Given the description of an element on the screen output the (x, y) to click on. 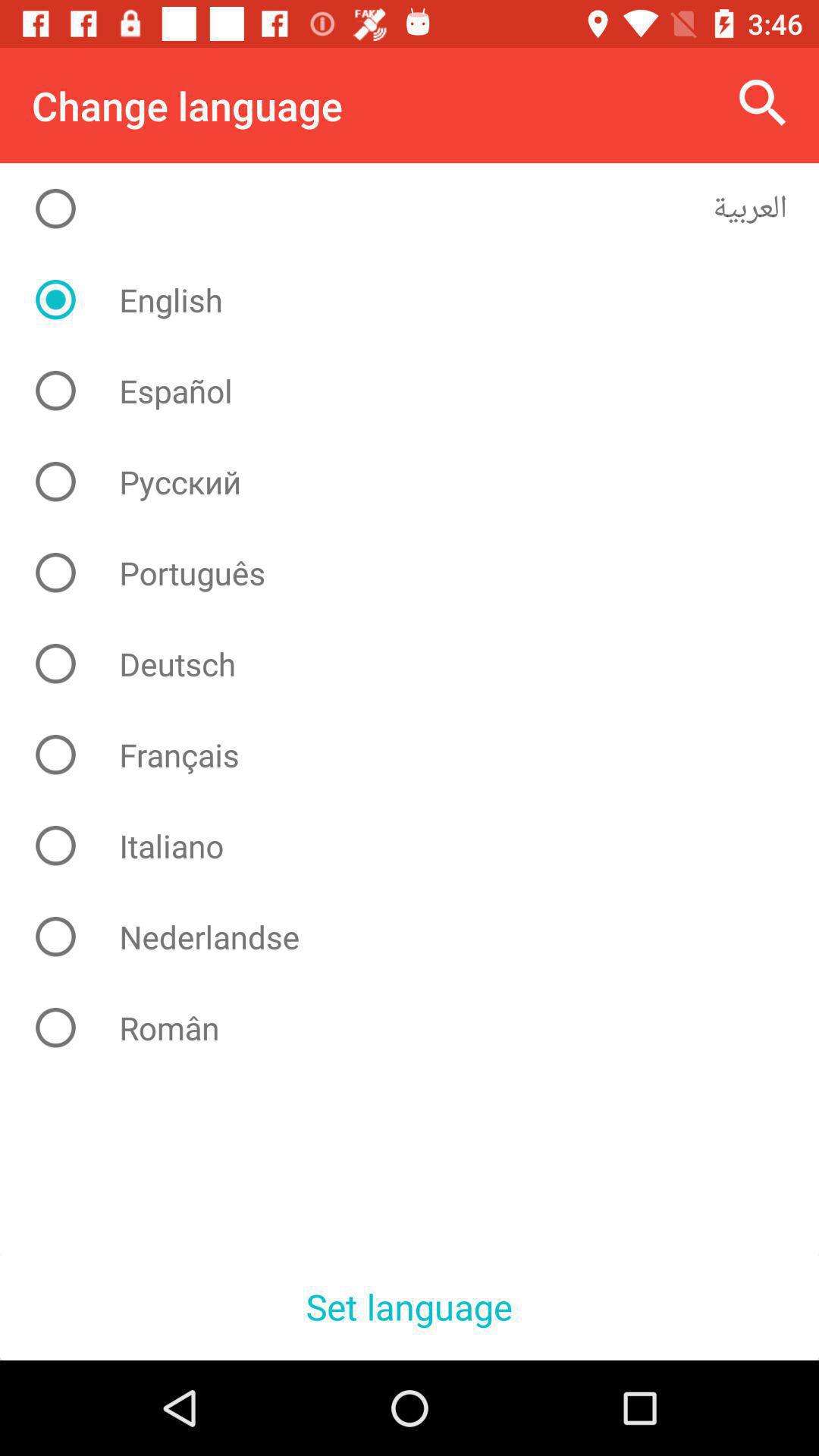
launch deutsch icon (421, 663)
